Given the description of an element on the screen output the (x, y) to click on. 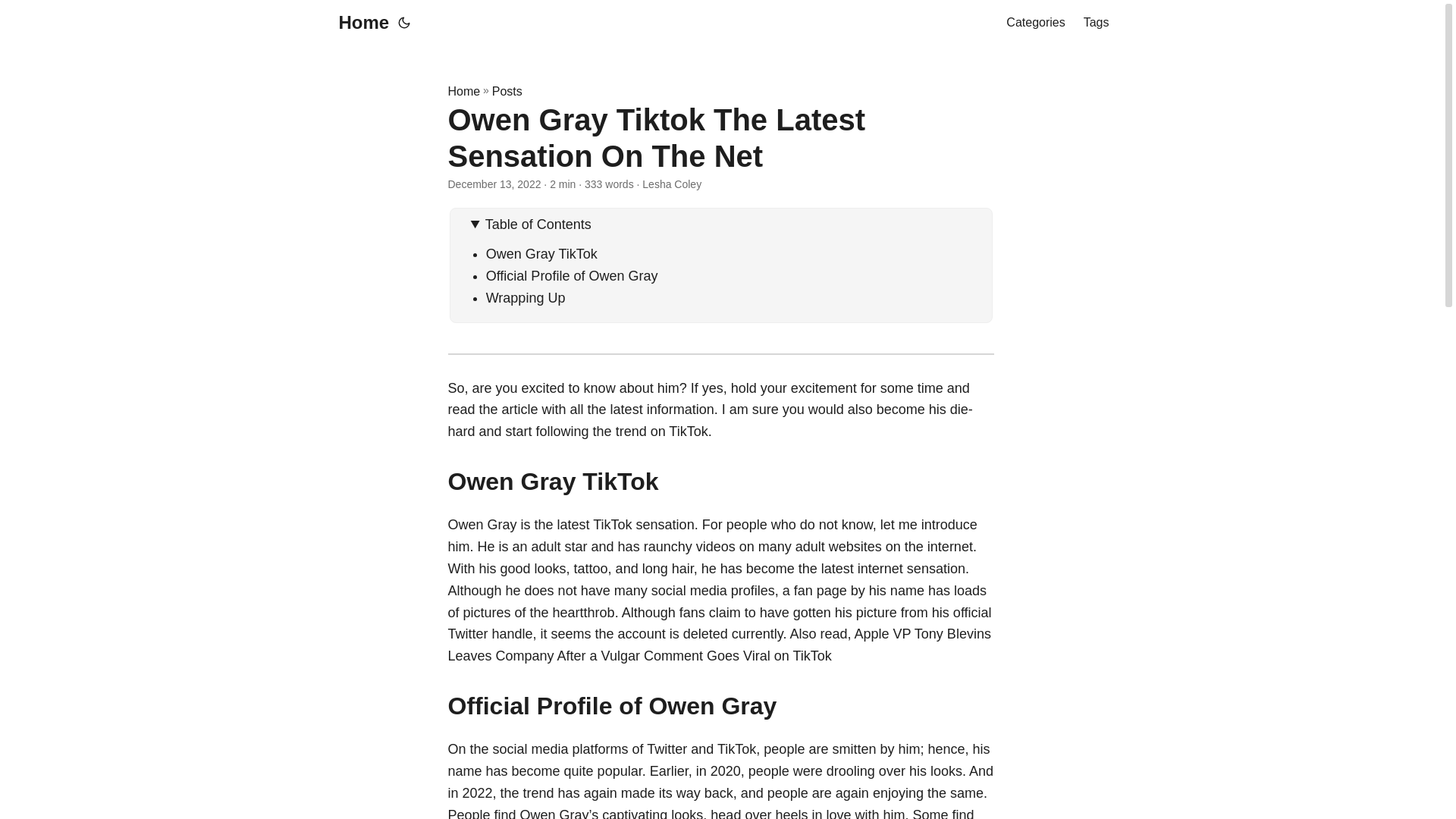
Official Profile of Owen Gray (572, 275)
Owen Gray TikTok (541, 253)
Home (359, 22)
Categories (1035, 22)
Posts (507, 91)
Categories (1035, 22)
Home (463, 91)
Wrapping Up (526, 297)
